Given the description of an element on the screen output the (x, y) to click on. 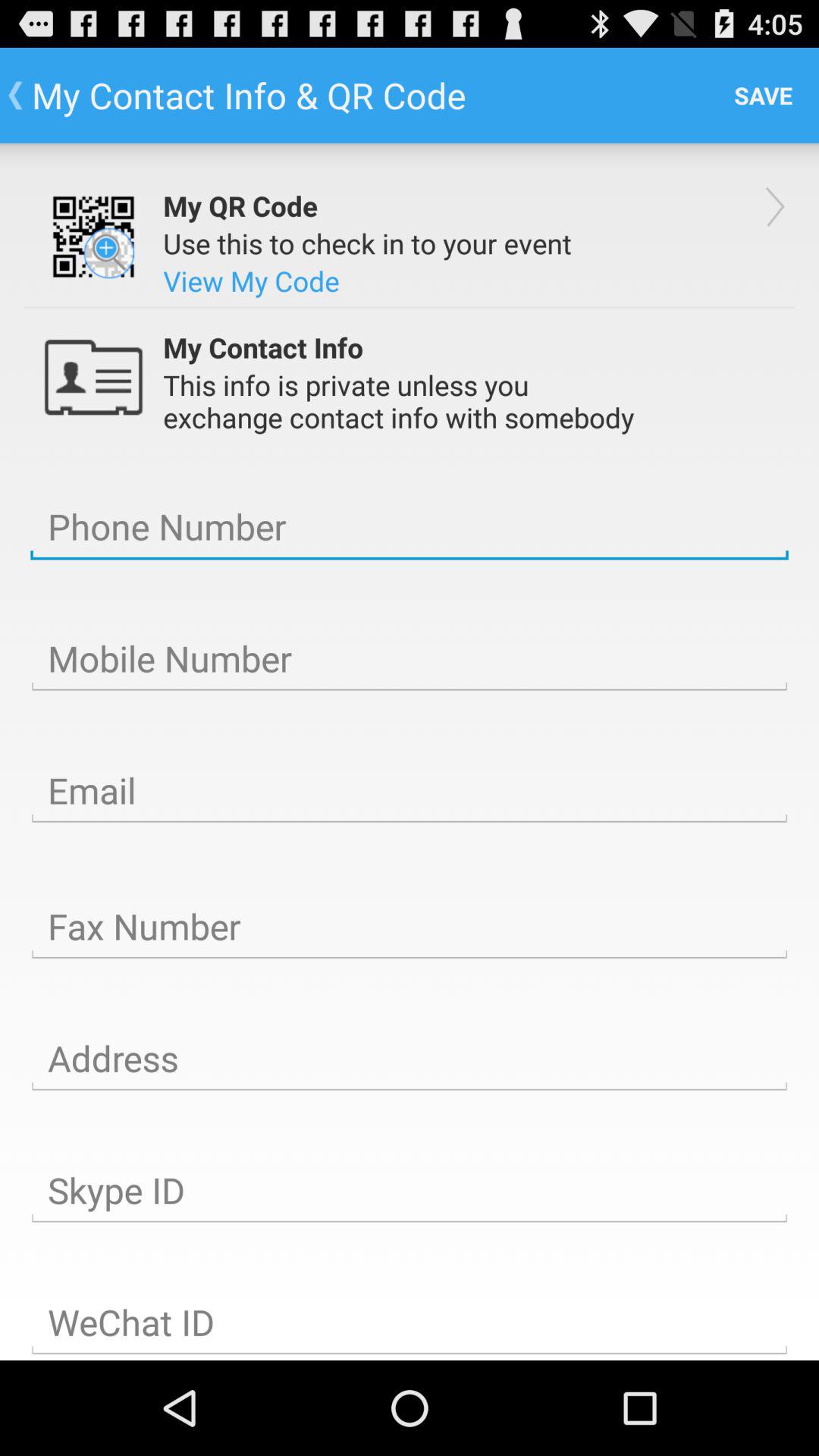
skype id (409, 1190)
